Given the description of an element on the screen output the (x, y) to click on. 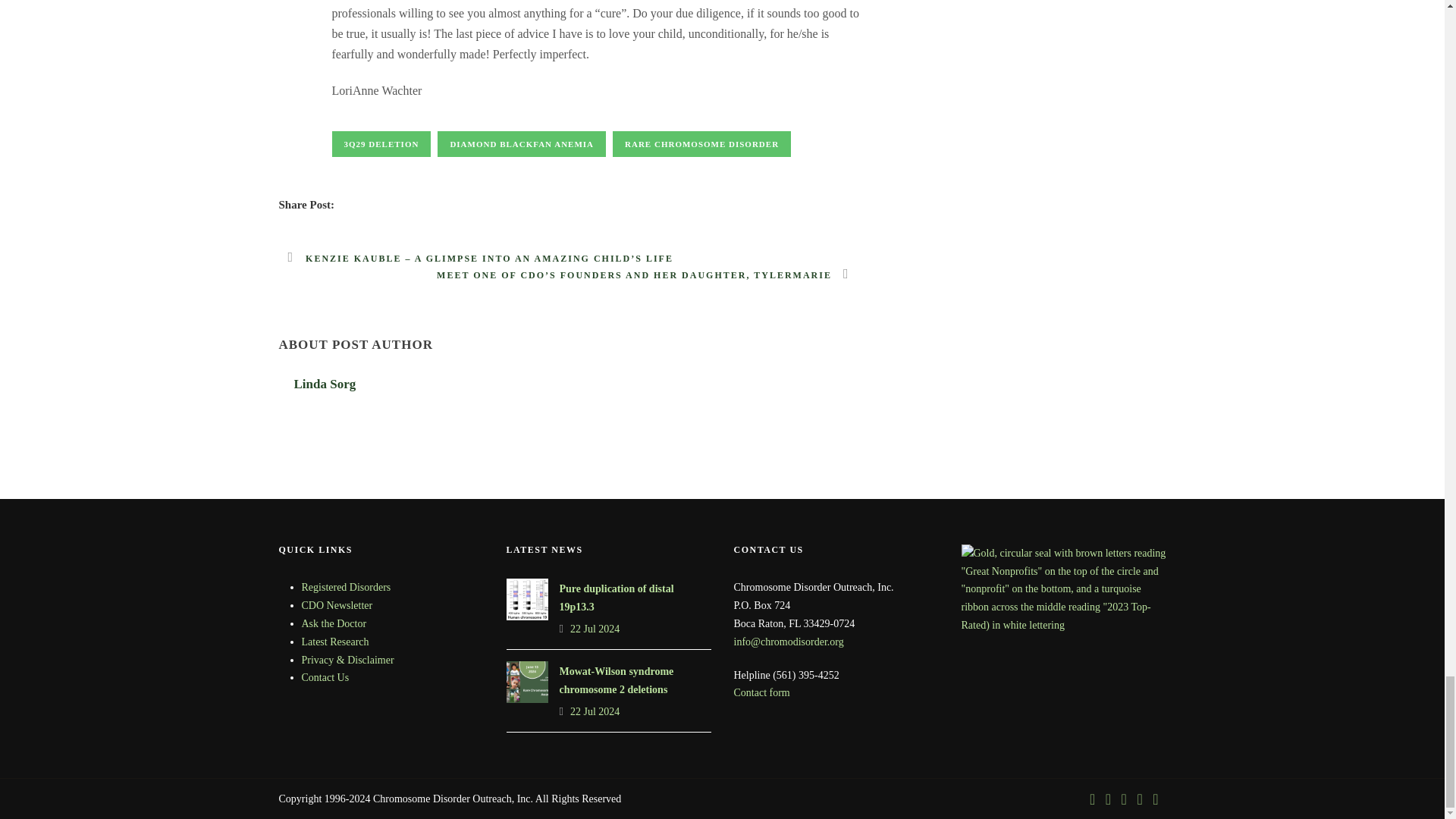
Posts by Linda Sorg (325, 383)
